Given the description of an element on the screen output the (x, y) to click on. 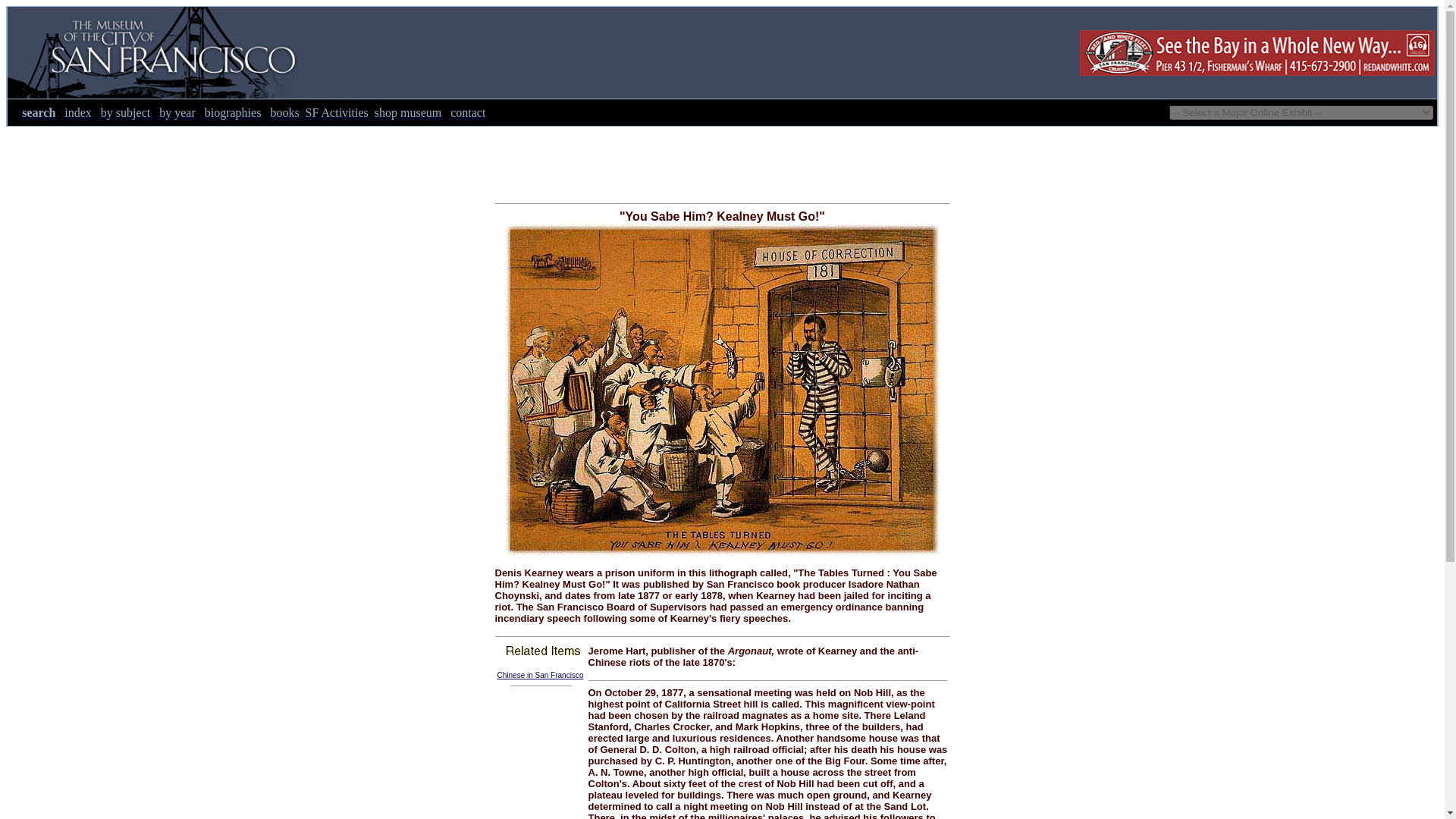
index (77, 112)
contact (466, 112)
books (283, 112)
Advertisement (721, 160)
Chinese in San Francisco (540, 674)
SF Activities (336, 112)
shop museum (407, 112)
by year (178, 112)
